Given the description of an element on the screen output the (x, y) to click on. 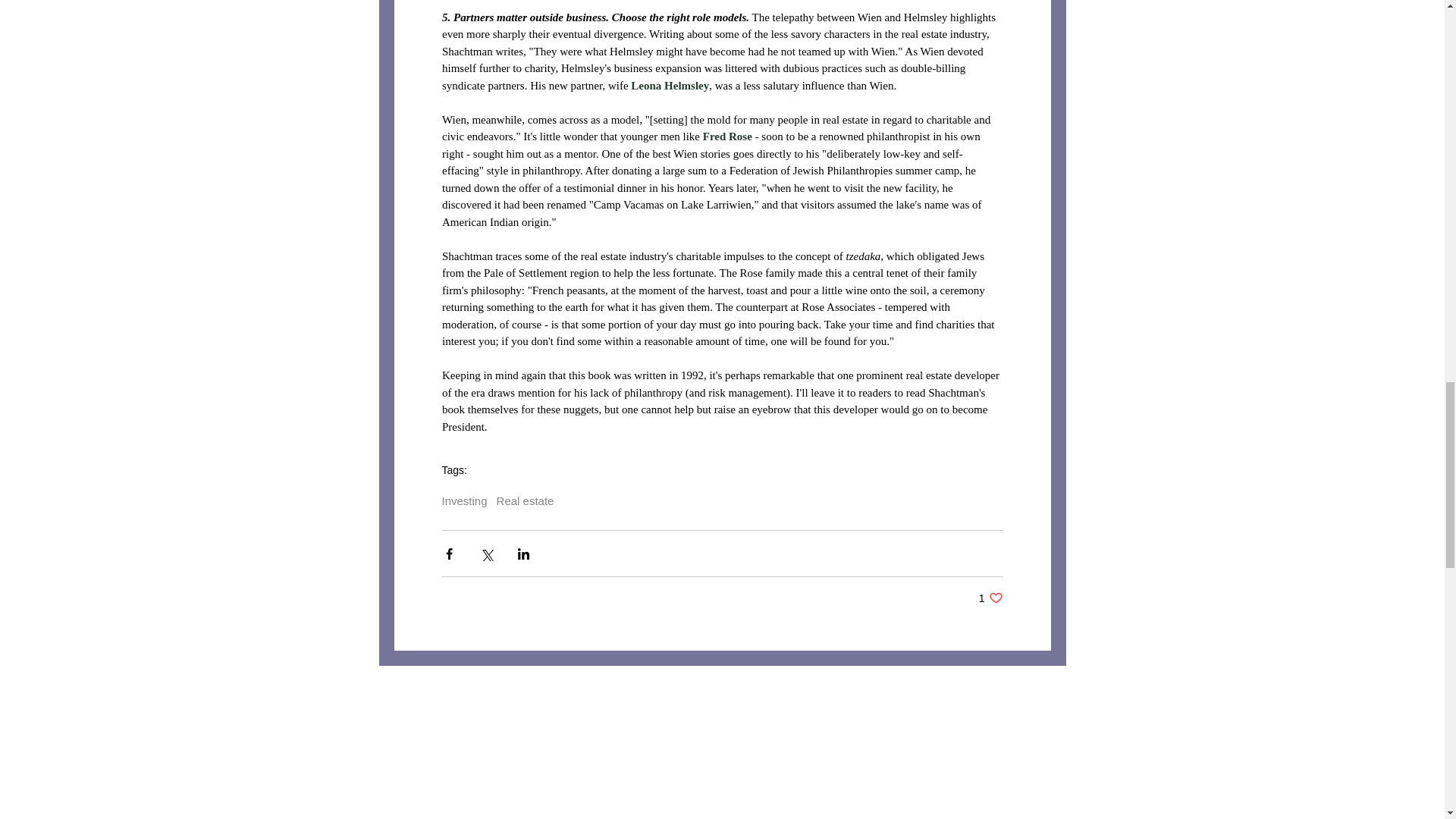
Real estate (525, 500)
Leona Helmsley (669, 85)
Investing (463, 500)
Fred Rose (726, 136)
